Given the description of an element on the screen output the (x, y) to click on. 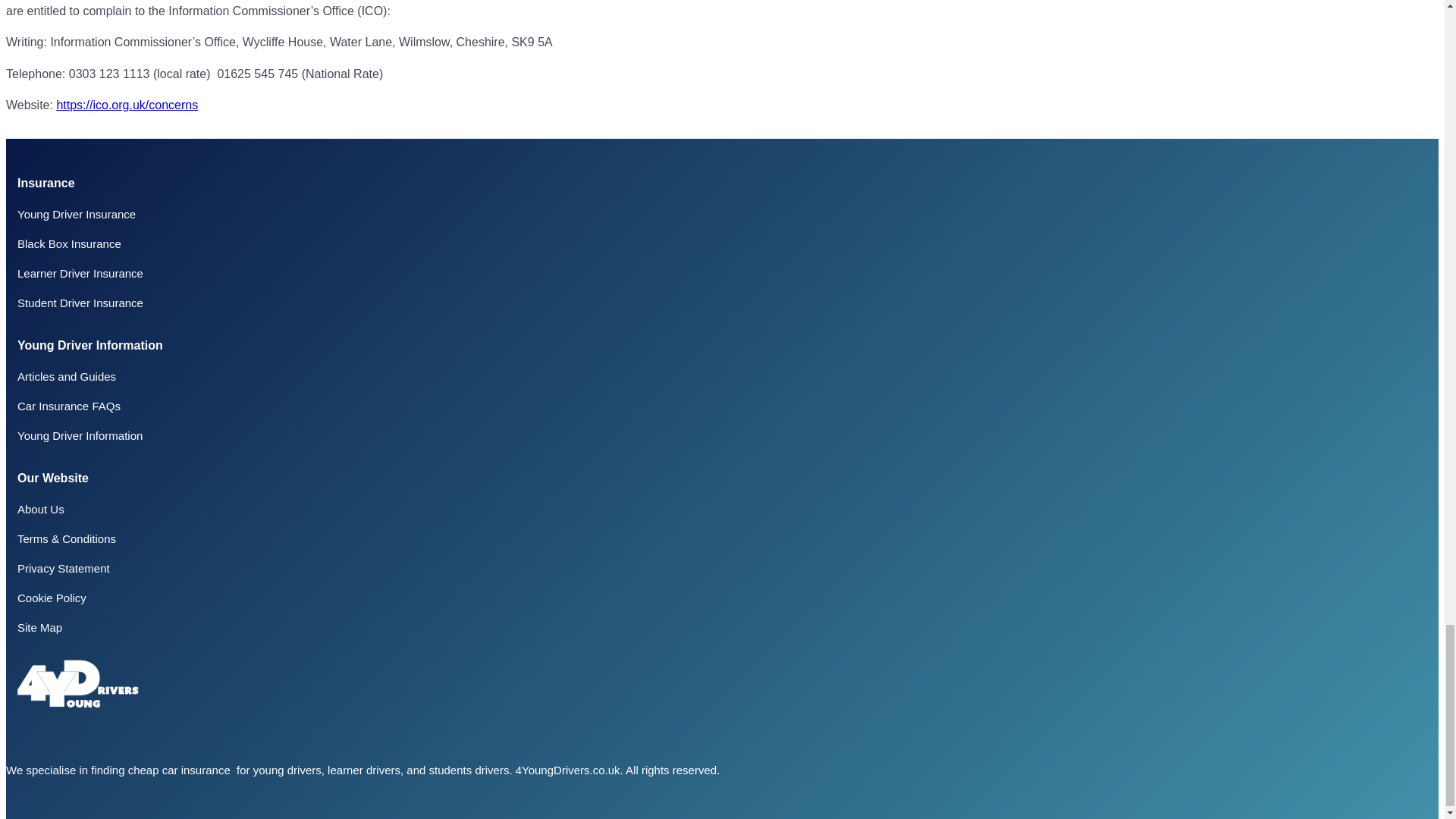
Cookie Policy (51, 597)
Learner Driver Insurance (79, 273)
About Us (40, 508)
Articles and Guides (66, 376)
Privacy Statement (63, 567)
Car Insurance FAQs (68, 405)
Young Driver Insurance (76, 214)
Black Box Insurance (68, 243)
Student Driver Insurance (79, 302)
Site Map (39, 626)
Young Driver Information (79, 435)
